Given the description of an element on the screen output the (x, y) to click on. 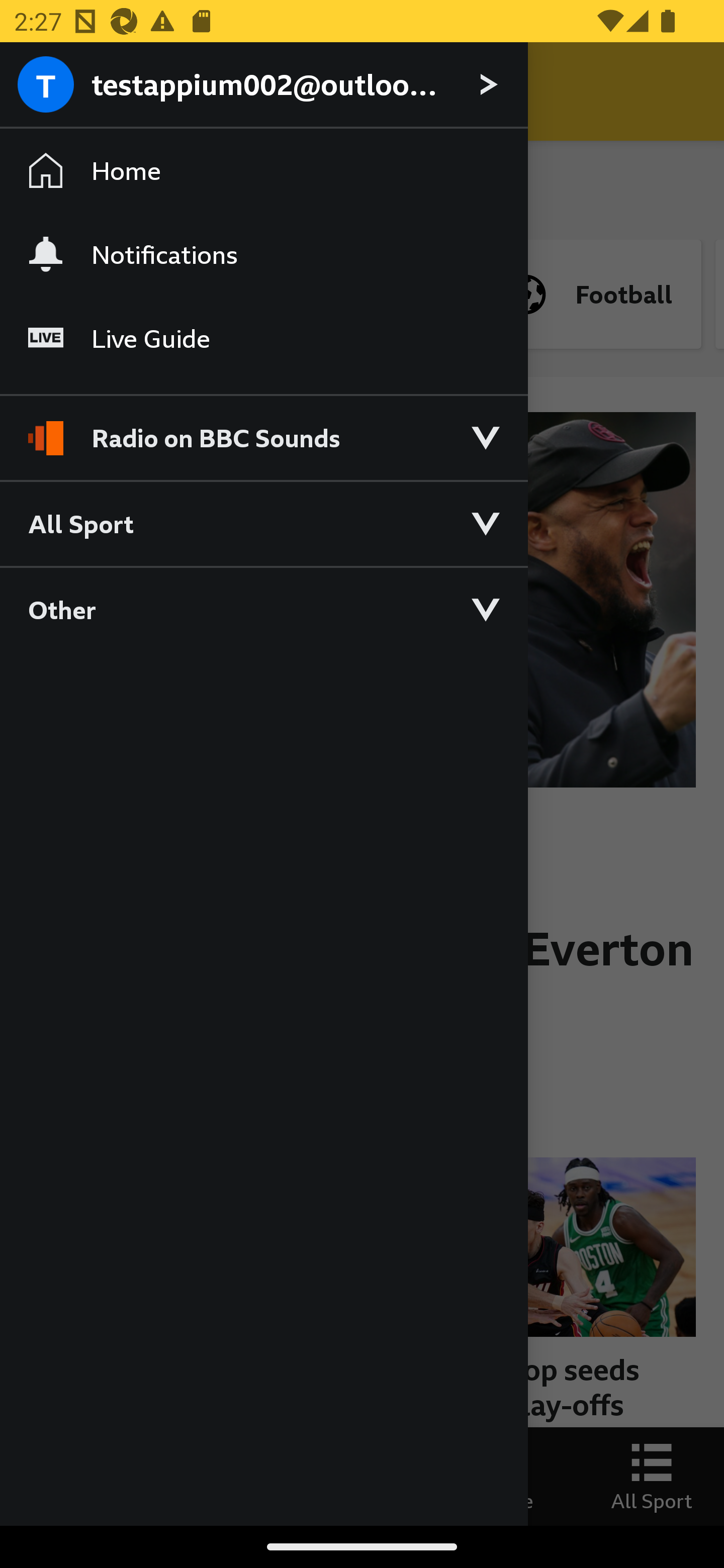
testappium002@outlook.com (263, 85)
Home (263, 170)
Notifications (263, 253)
Live Guide (263, 338)
Radio on BBC Sounds (263, 429)
All Sport (263, 522)
Other (263, 609)
